Given the description of an element on the screen output the (x, y) to click on. 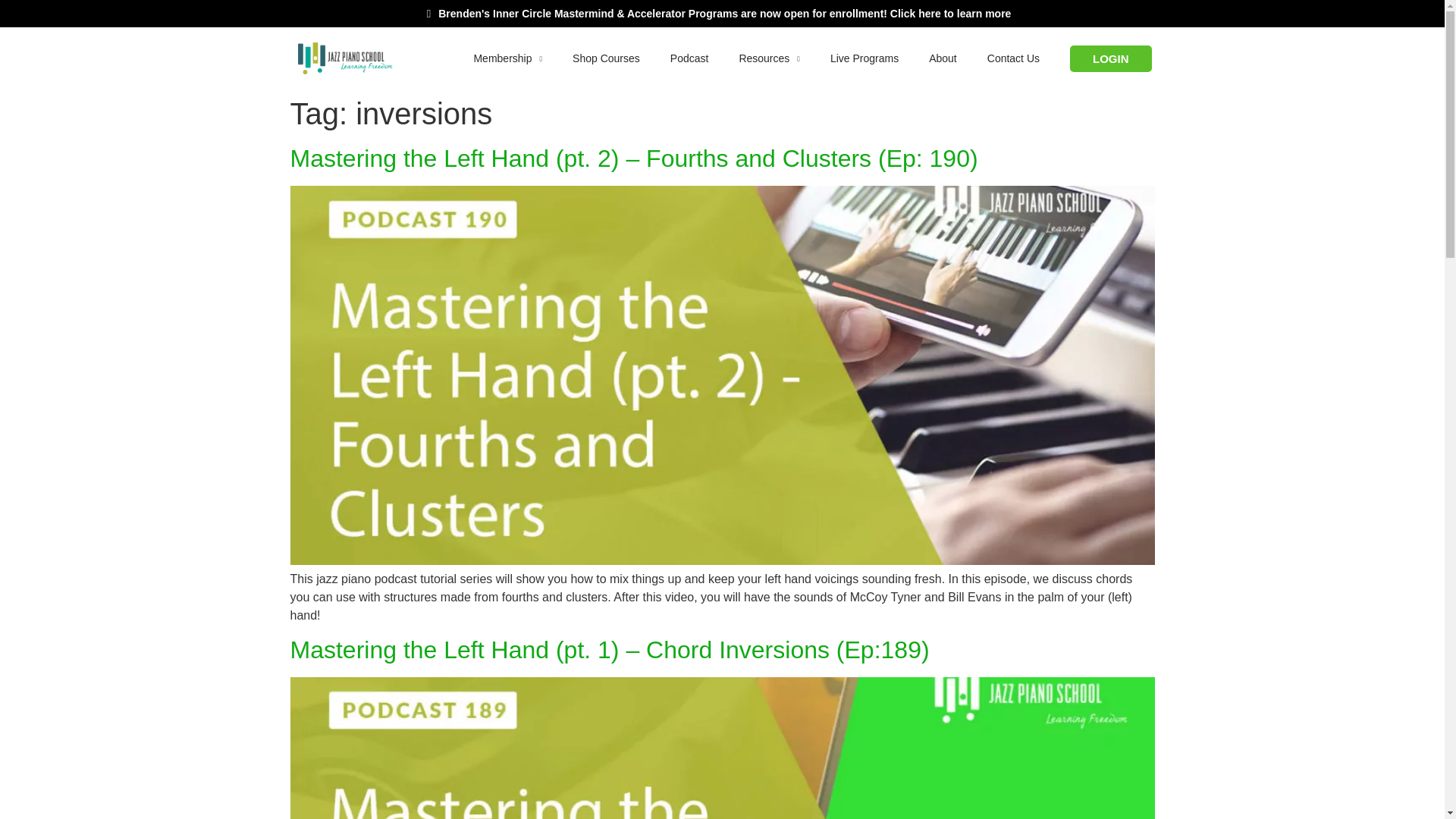
Podcast (689, 58)
About (943, 58)
Live Programs (864, 58)
Resources (769, 58)
Membership (507, 58)
logo-vector-150px (345, 58)
Contact Us (1013, 58)
Shop Courses (606, 58)
LOGIN (1110, 58)
